Given the description of an element on the screen output the (x, y) to click on. 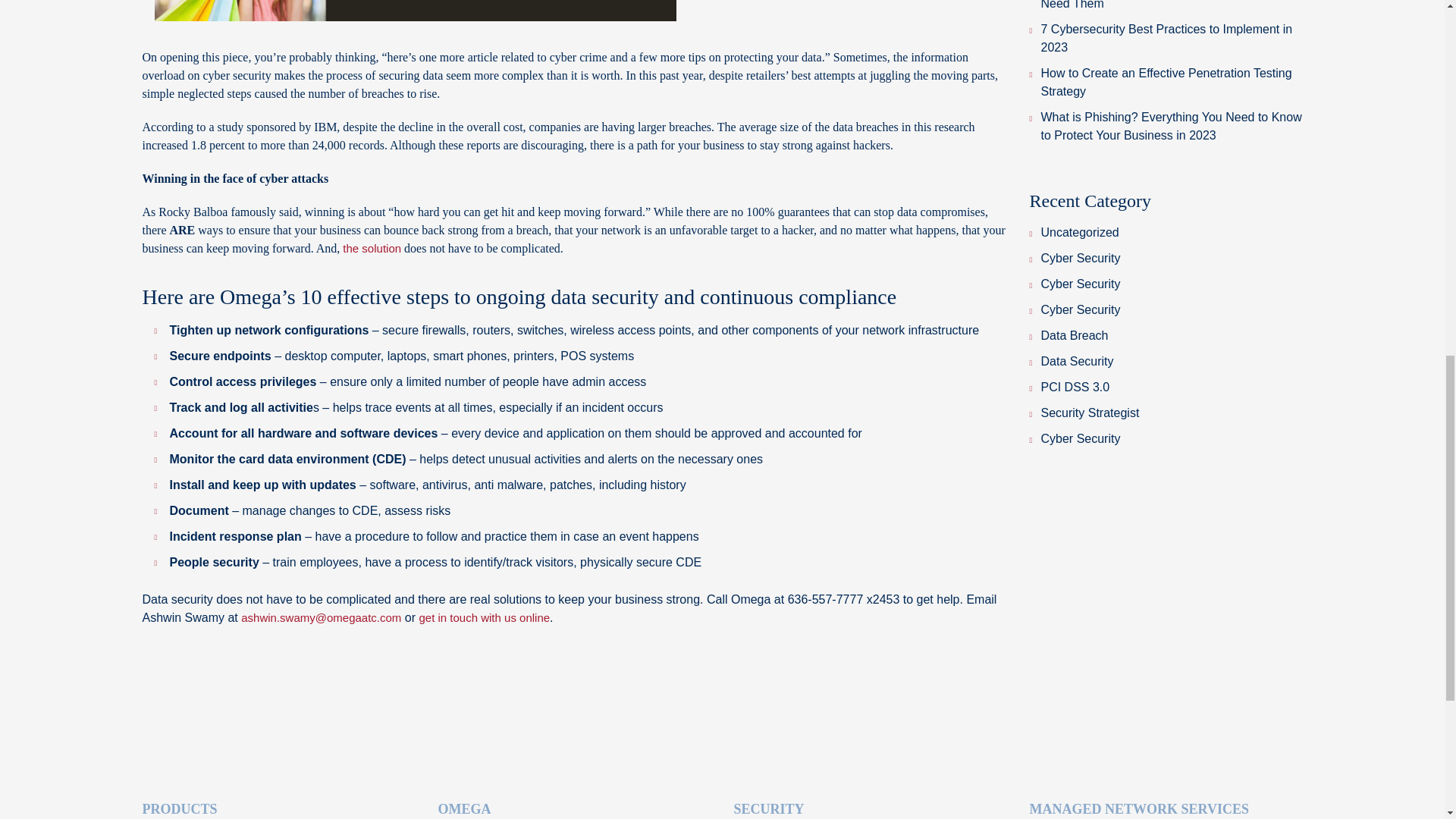
get in touch with us online (484, 617)
the solution (371, 247)
